Given the description of an element on the screen output the (x, y) to click on. 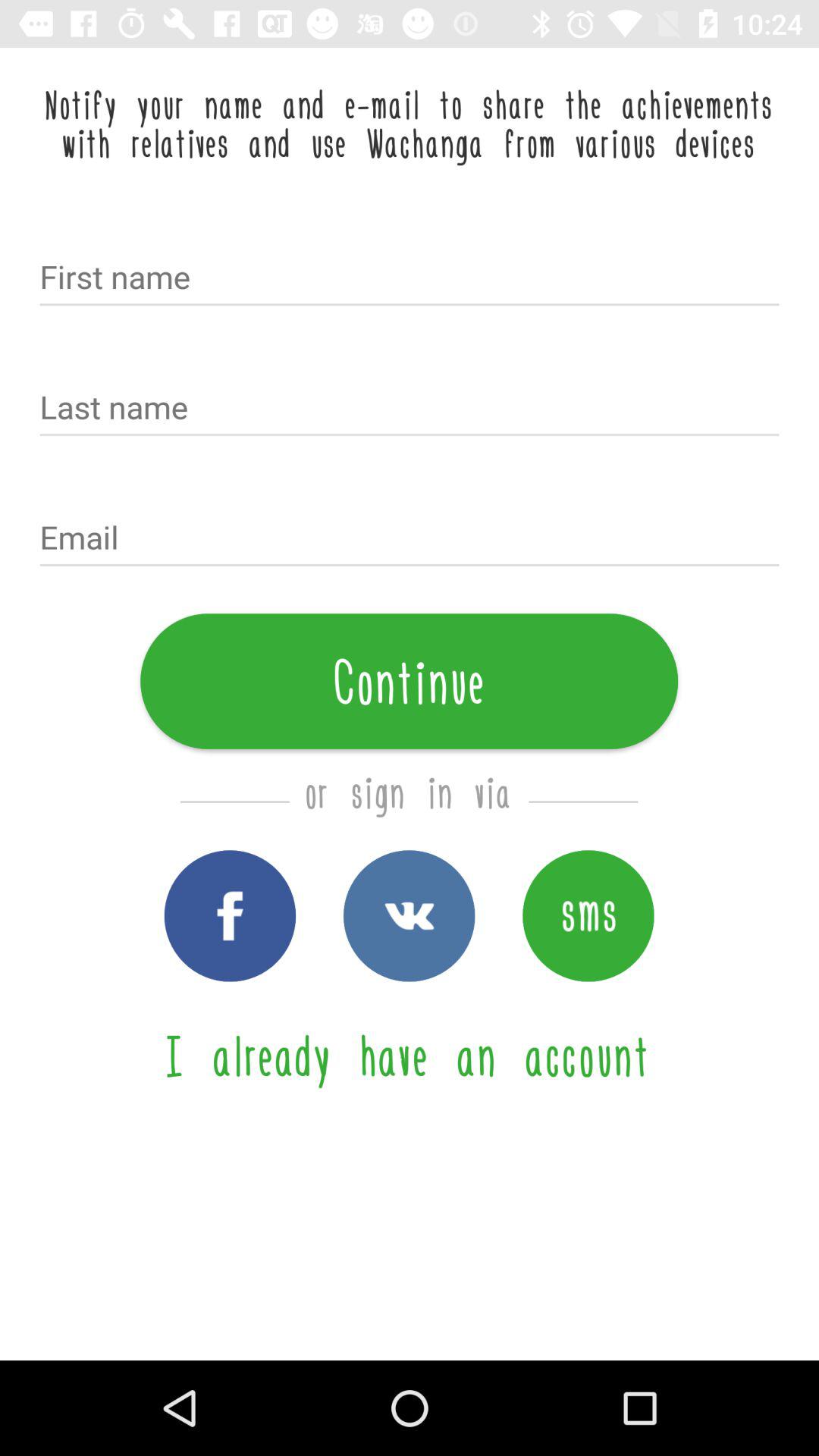
vk sign in (408, 915)
